Given the description of an element on the screen output the (x, y) to click on. 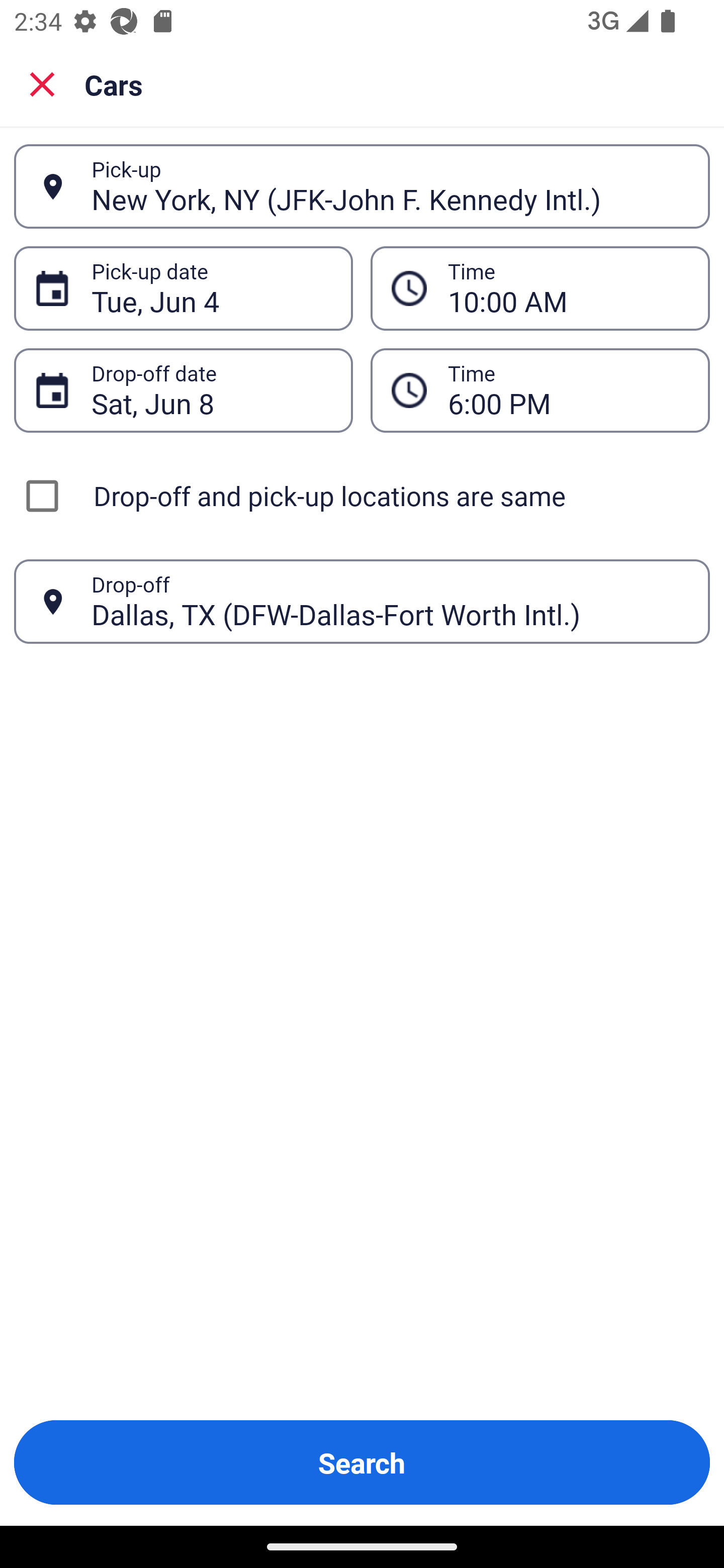
Close search screen (41, 83)
New York, NY (JFK-John F. Kennedy Intl.) Pick-up (361, 186)
New York, NY (JFK-John F. Kennedy Intl.) (389, 186)
Tue, Jun 4 Pick-up date (183, 288)
10:00 AM (540, 288)
Tue, Jun 4 (211, 288)
10:00 AM (568, 288)
Sat, Jun 8 Drop-off date (183, 390)
6:00 PM (540, 390)
Sat, Jun 8 (211, 390)
6:00 PM (568, 390)
Drop-off and pick-up locations are same (361, 495)
Dallas, TX (DFW-Dallas-Fort Worth Intl.) Drop-off (361, 601)
Dallas, TX (DFW-Dallas-Fort Worth Intl.) (389, 601)
Search Button Search (361, 1462)
